Given the description of an element on the screen output the (x, y) to click on. 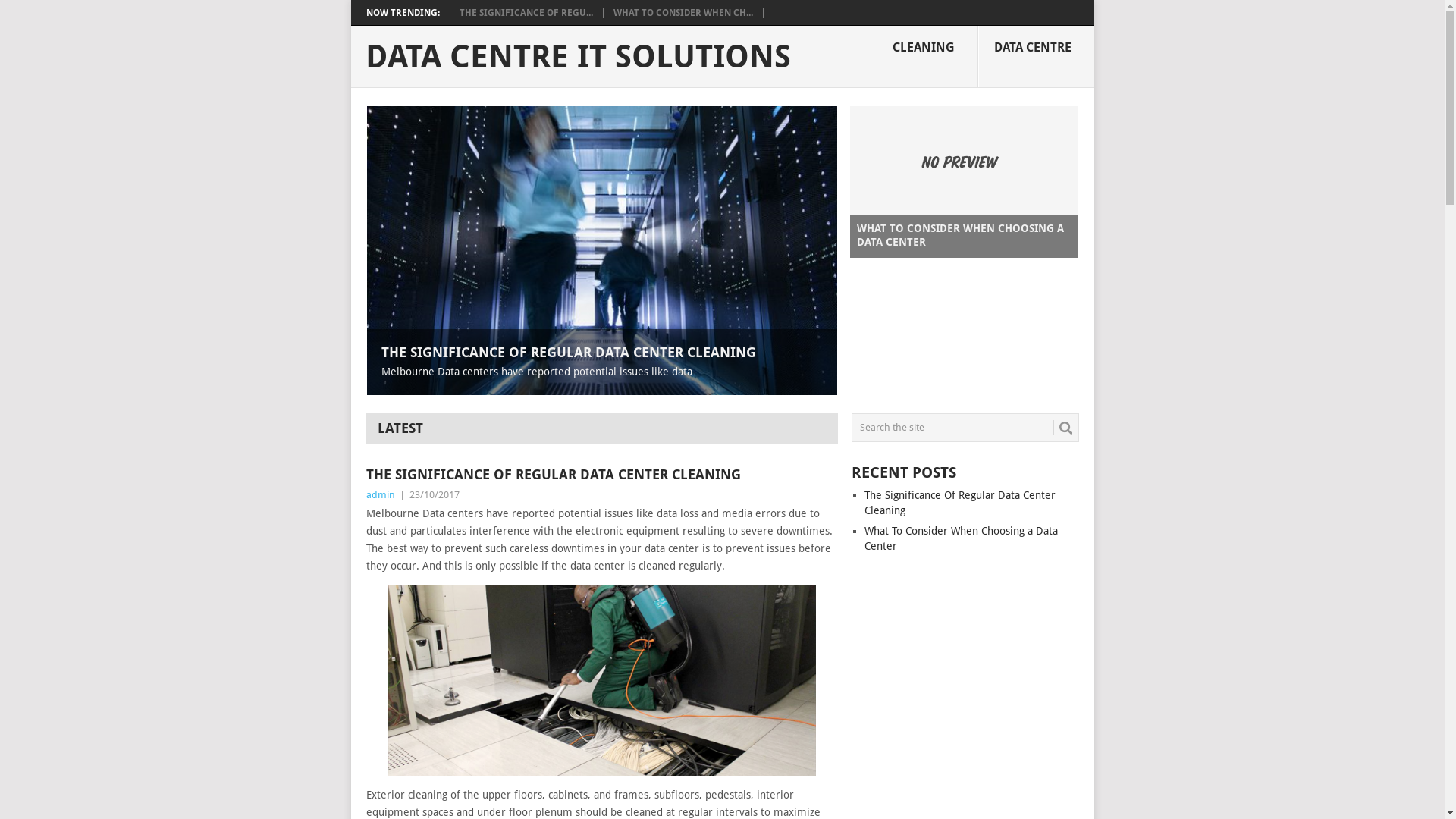
admin Element type: text (379, 494)
DATA CENTRE IT SOLUTIONS Element type: text (577, 56)
DATA CENTRE Element type: text (1036, 56)
The Significance Of Regular Data Center Cleaning Element type: text (959, 502)
THE SIGNIFICANCE OF REGU... Element type: text (526, 12)
THE SIGNIFICANCE OF REGULAR DATA CENTER CLEANING Element type: text (601, 473)
What To Consider When Choosing a Data Center Element type: text (960, 538)
WHAT TO CONSIDER WHEN CH... Element type: text (682, 12)
CLEANING Element type: text (927, 56)
